Given the description of an element on the screen output the (x, y) to click on. 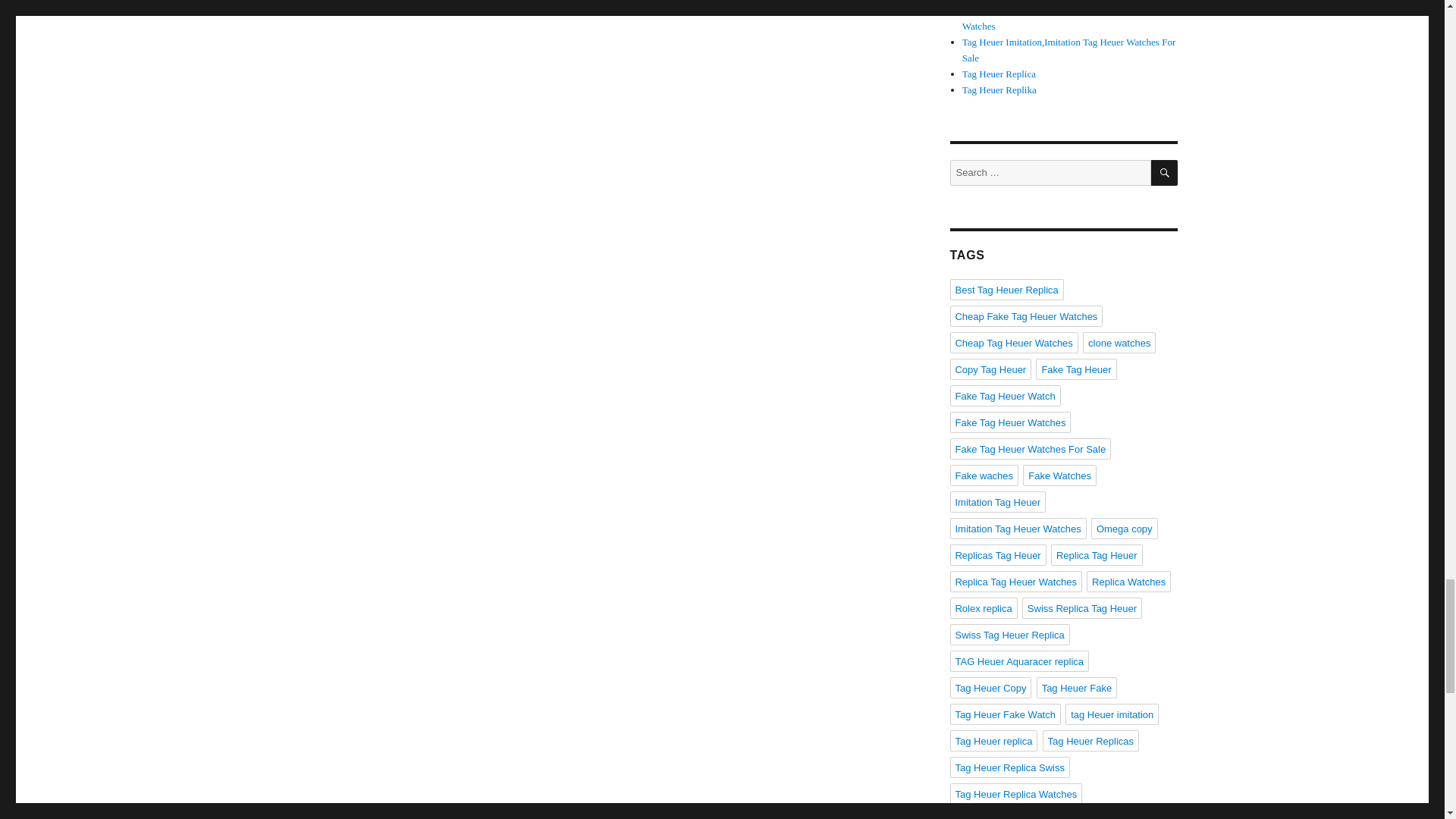
Tag Heuer Imitation,Imitation Tag Heuer Watches For Sale (1069, 49)
Tag Heuer Copy,Tag Heuer Copies,Copy Tag Heuer Watches (1064, 17)
